Given the description of an element on the screen output the (x, y) to click on. 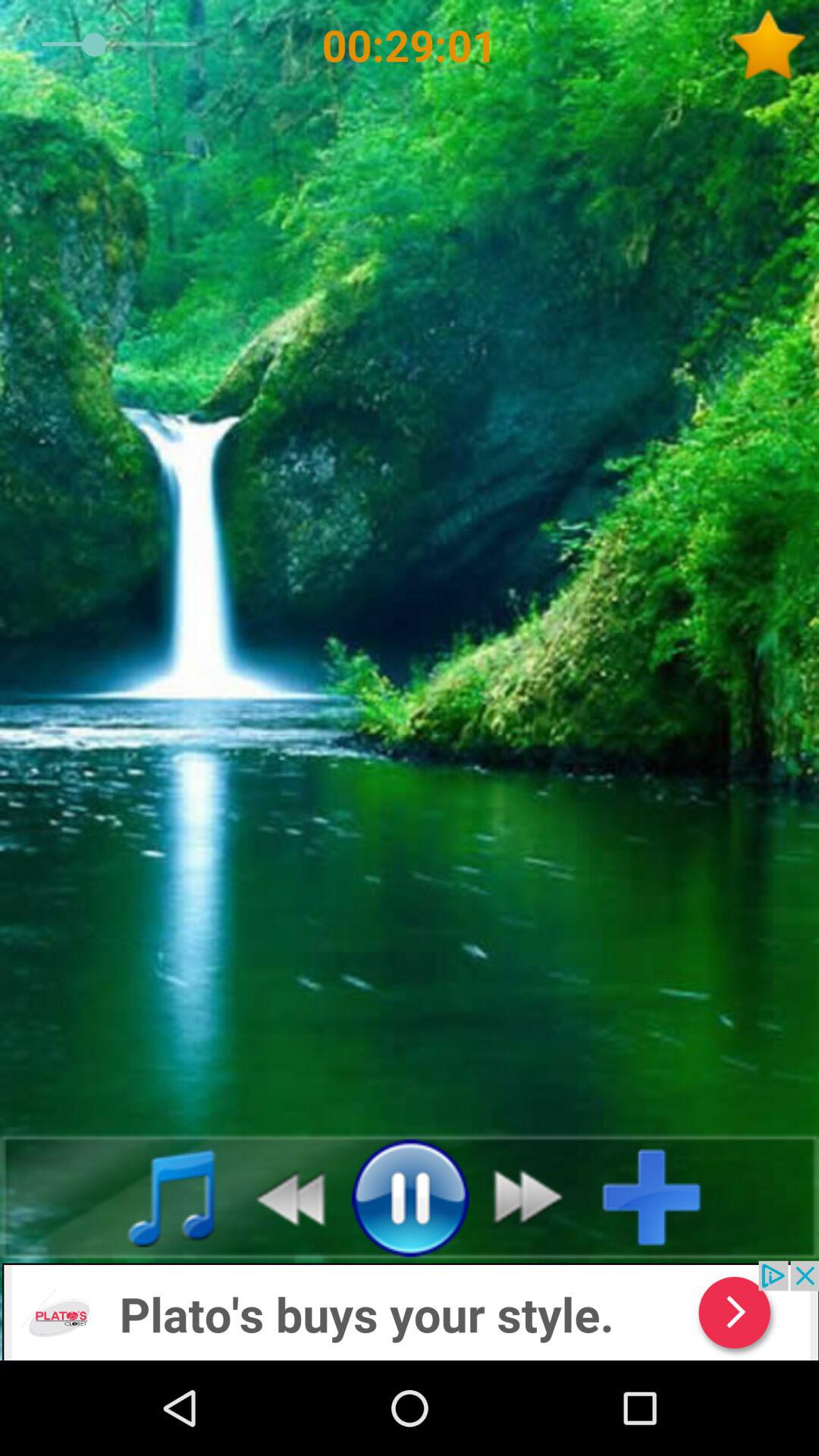
go to add (409, 1310)
